Given the description of an element on the screen output the (x, y) to click on. 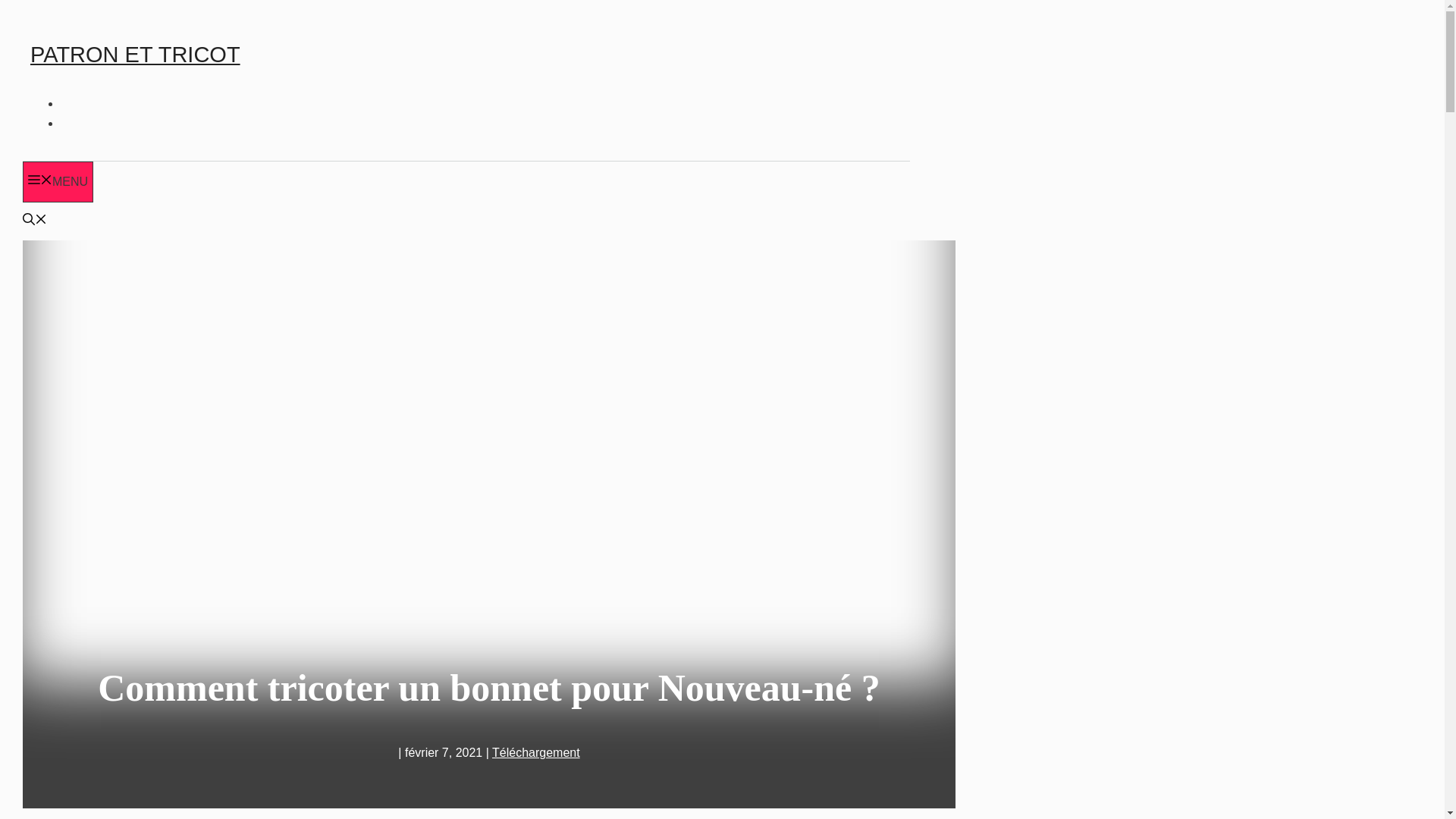
MENU Element type: text (57, 181)
PATRON ET TRICOT Element type: text (135, 54)
